Given the description of an element on the screen output the (x, y) to click on. 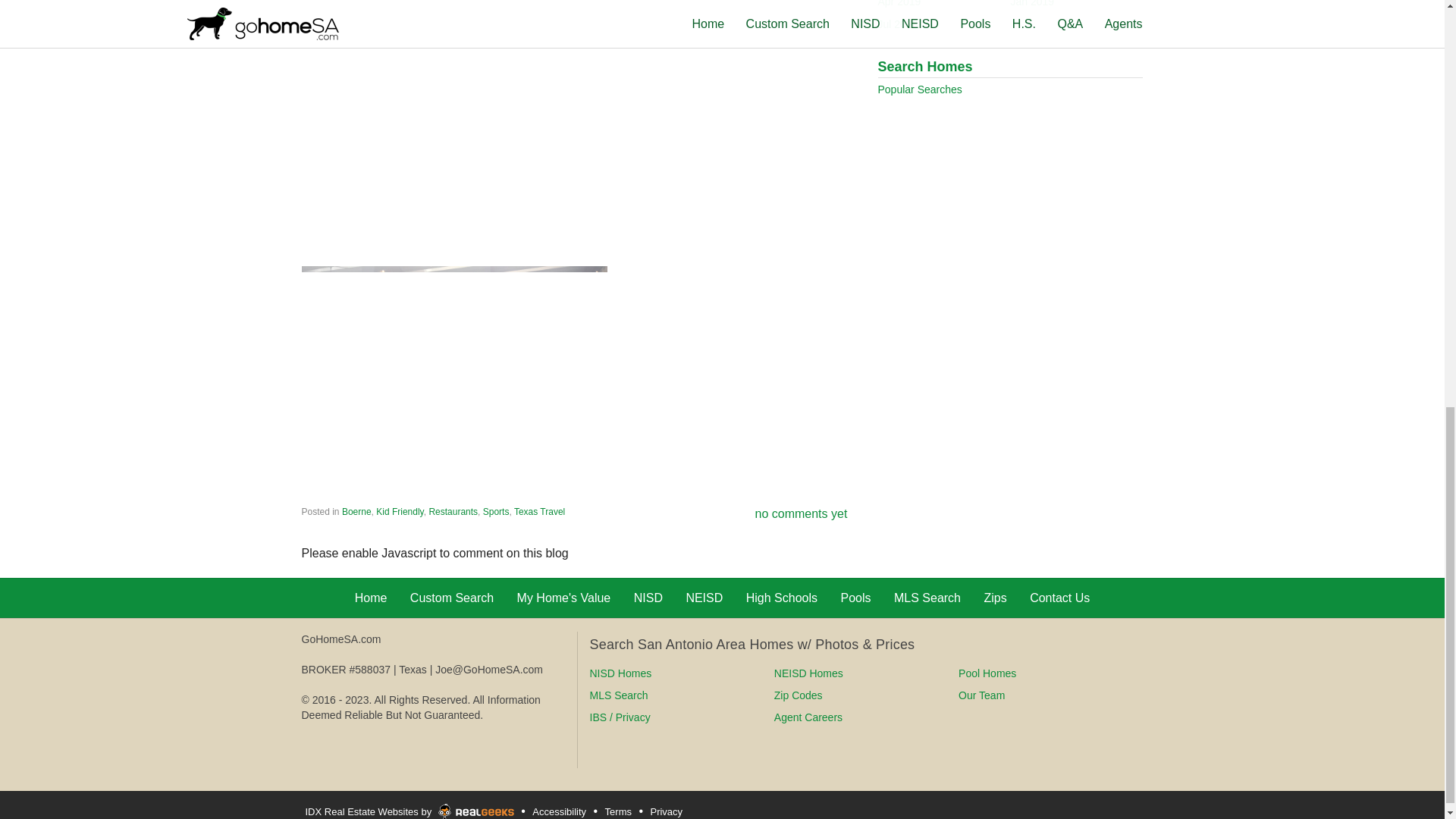
Kid Friendly (399, 511)
Restaurants (452, 511)
Sports (496, 511)
no comments yet (801, 513)
Boerne (356, 511)
Texas Travel (538, 511)
